Given the description of an element on the screen output the (x, y) to click on. 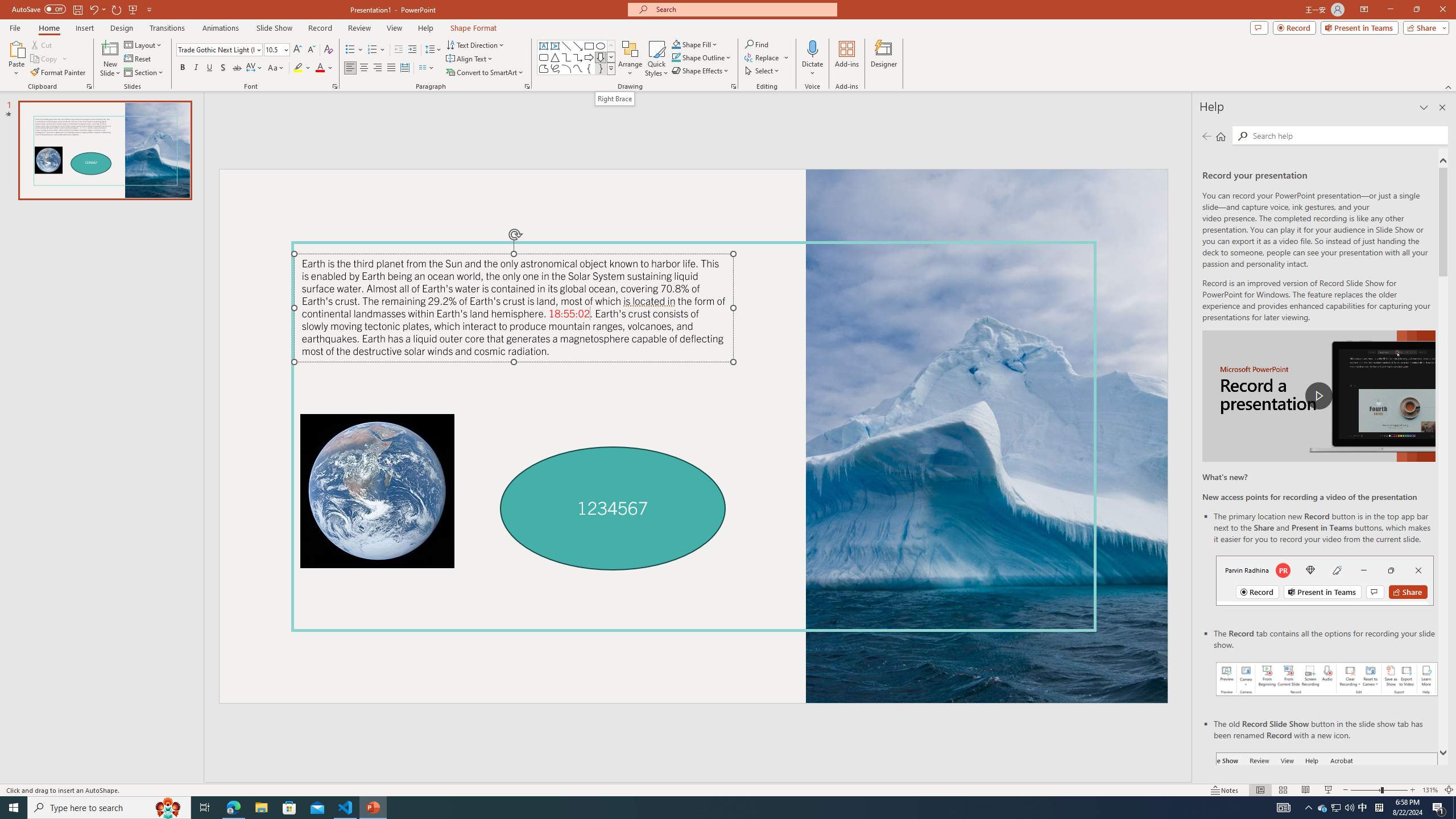
play Record a Presentation (1318, 395)
